Given the description of an element on the screen output the (x, y) to click on. 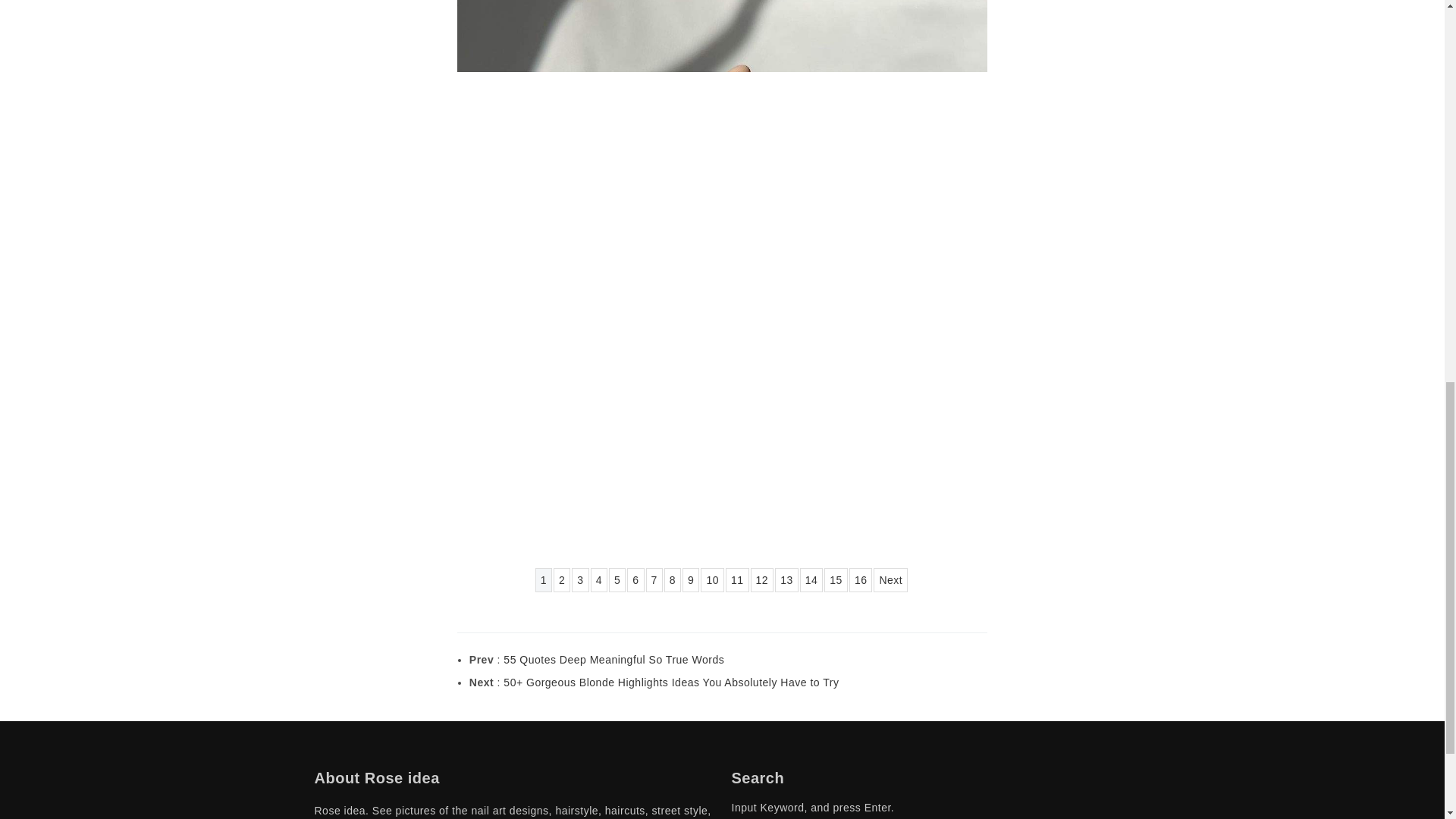
8 (672, 580)
9 (690, 580)
2 (561, 580)
1 (543, 580)
5 (617, 580)
10 (711, 580)
13 (785, 580)
3 (580, 580)
11 (737, 580)
Next (890, 580)
4 (599, 580)
6 (635, 580)
16 (860, 580)
14 (811, 580)
55 Quotes Deep Meaningful So True Words (613, 659)
